Given the description of an element on the screen output the (x, y) to click on. 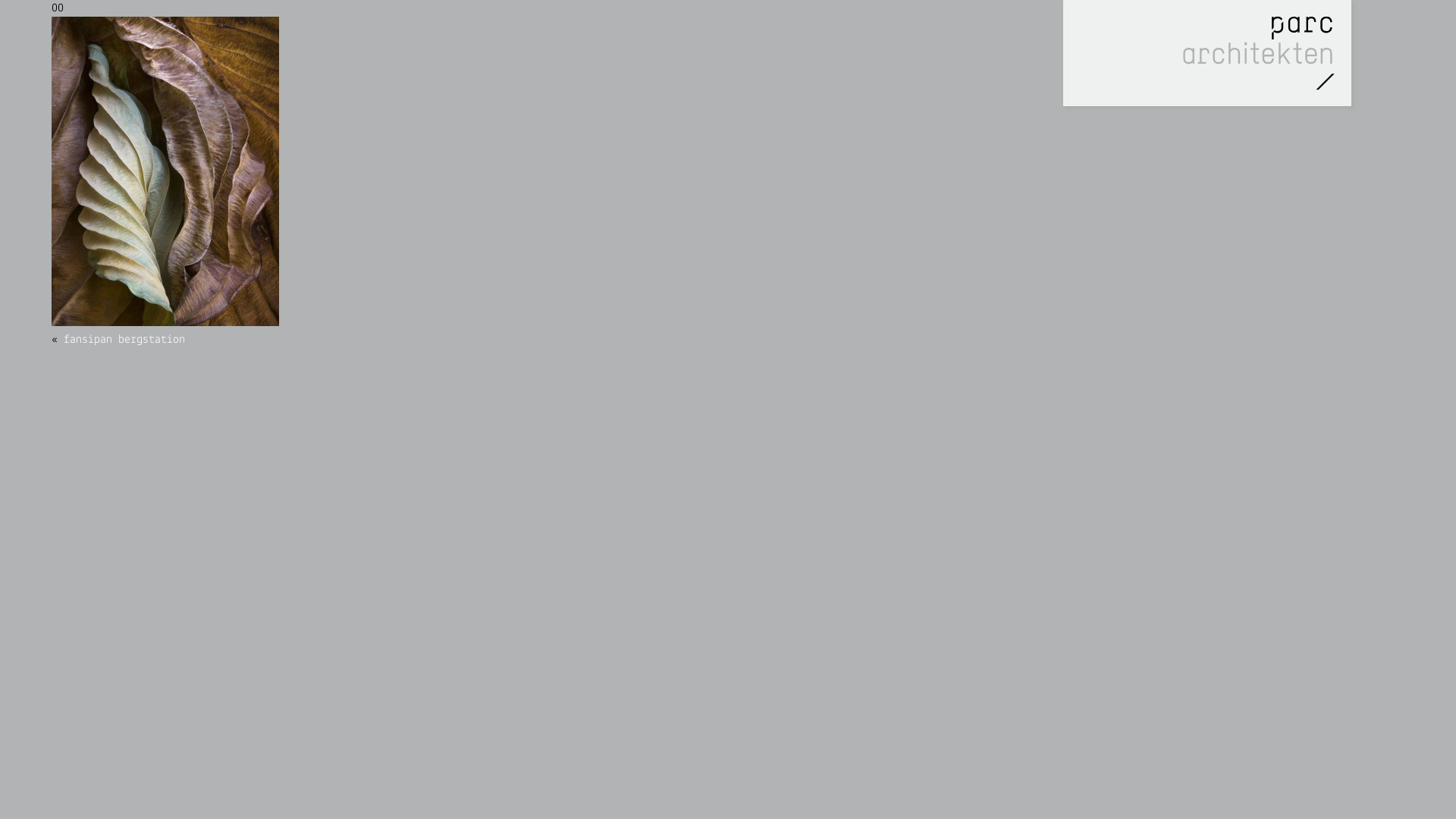
fansipan bergstation Element type: text (124, 339)
